Given the description of an element on the screen output the (x, y) to click on. 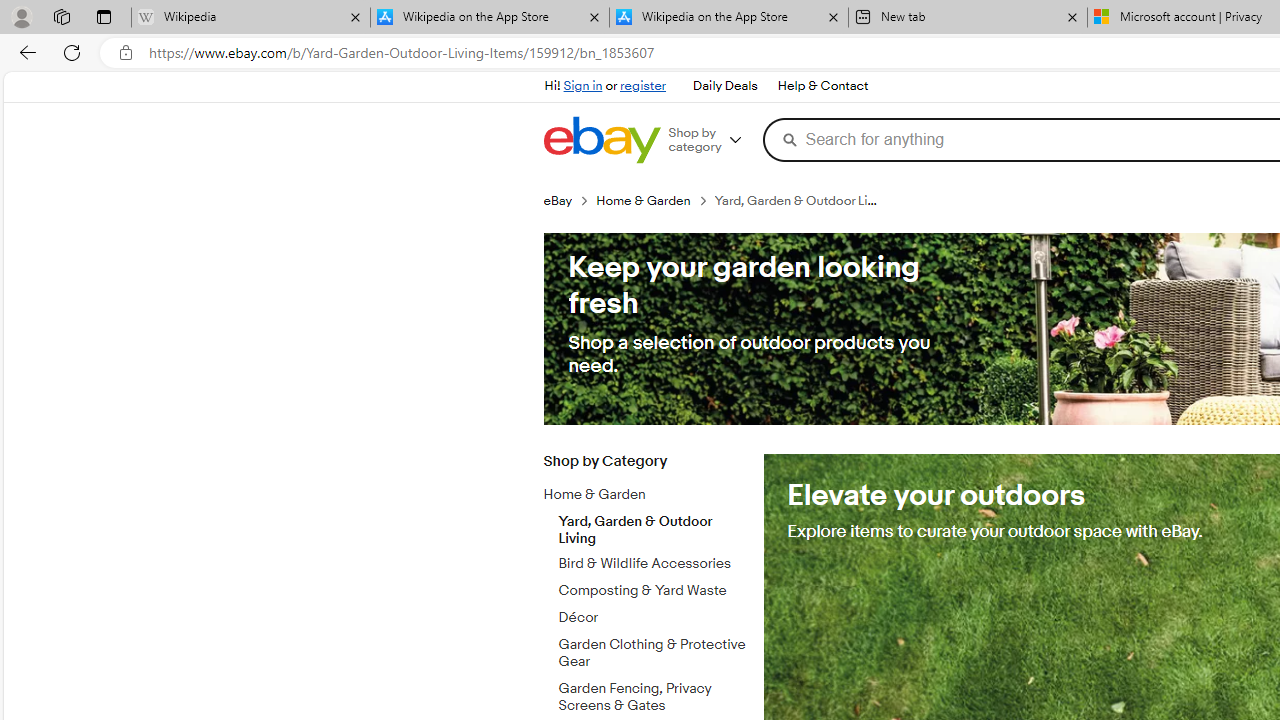
eBay (557, 200)
Home & Garden (637, 495)
eBay Home (601, 139)
Garden Clothing & Protective Gear (653, 649)
Daily Deals (724, 86)
Help & Contact (821, 85)
register (642, 85)
Composting & Yard Waste (653, 591)
Garden Clothing & Protective Gear (653, 653)
